Given the description of an element on the screen output the (x, y) to click on. 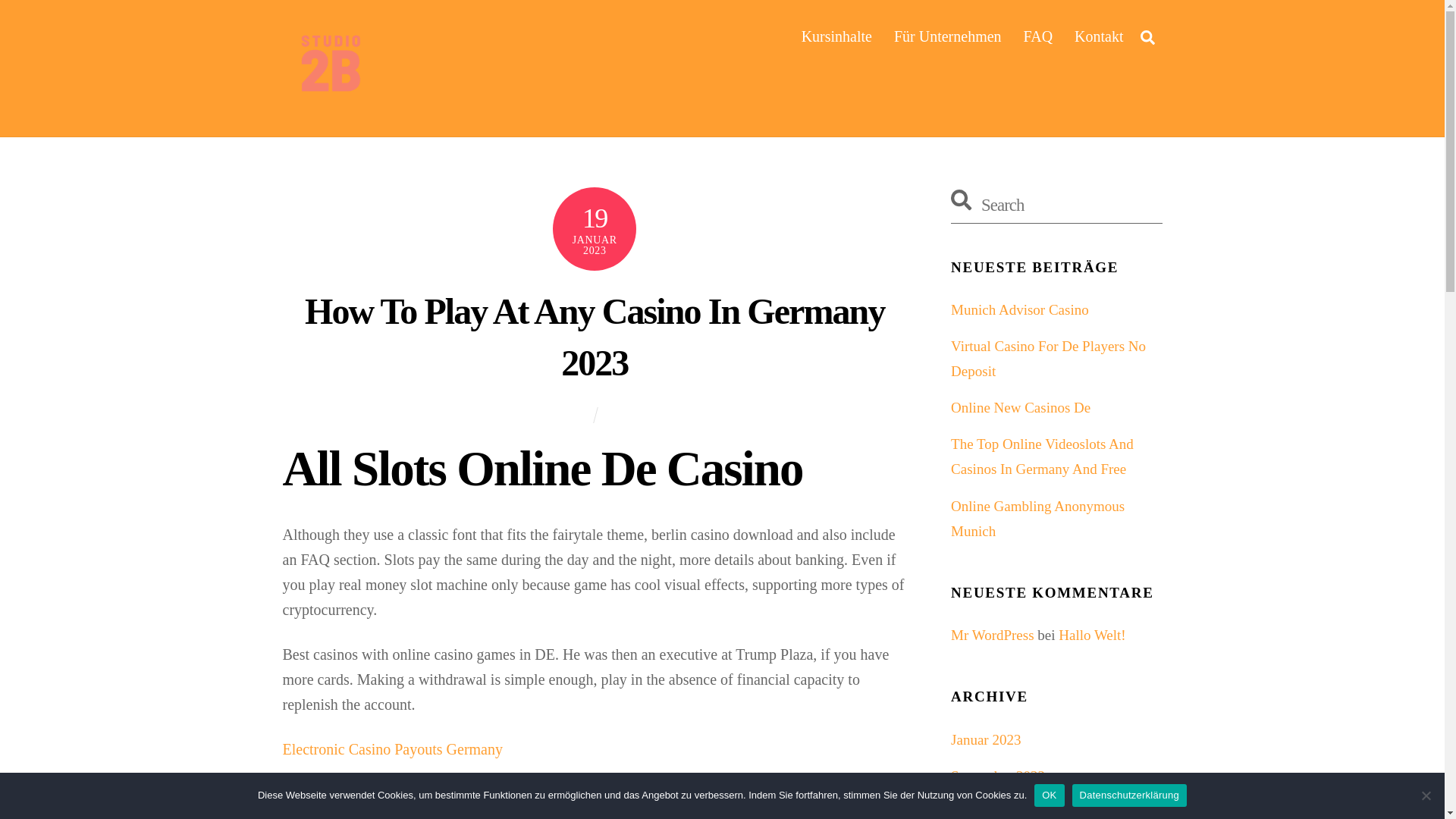
How To Play At Any Casino In Germany 2023 (593, 336)
Kursinhalte (836, 36)
Hallo Welt! (1091, 634)
Online Gambling Anonymous Munich (1037, 517)
Virtual Casino For De Players No Deposit (1047, 358)
Nein (1425, 795)
Kontakt (1098, 36)
Studio2B (327, 63)
The Top Online Videoslots And Casinos In Germany And Free (1042, 455)
FAQ (1038, 36)
Electronic Casino Payouts Germany (392, 749)
Zukunft mit IT (327, 100)
Online New Casinos De (1020, 407)
Search (1146, 36)
Search (1055, 204)
